Given the description of an element on the screen output the (x, y) to click on. 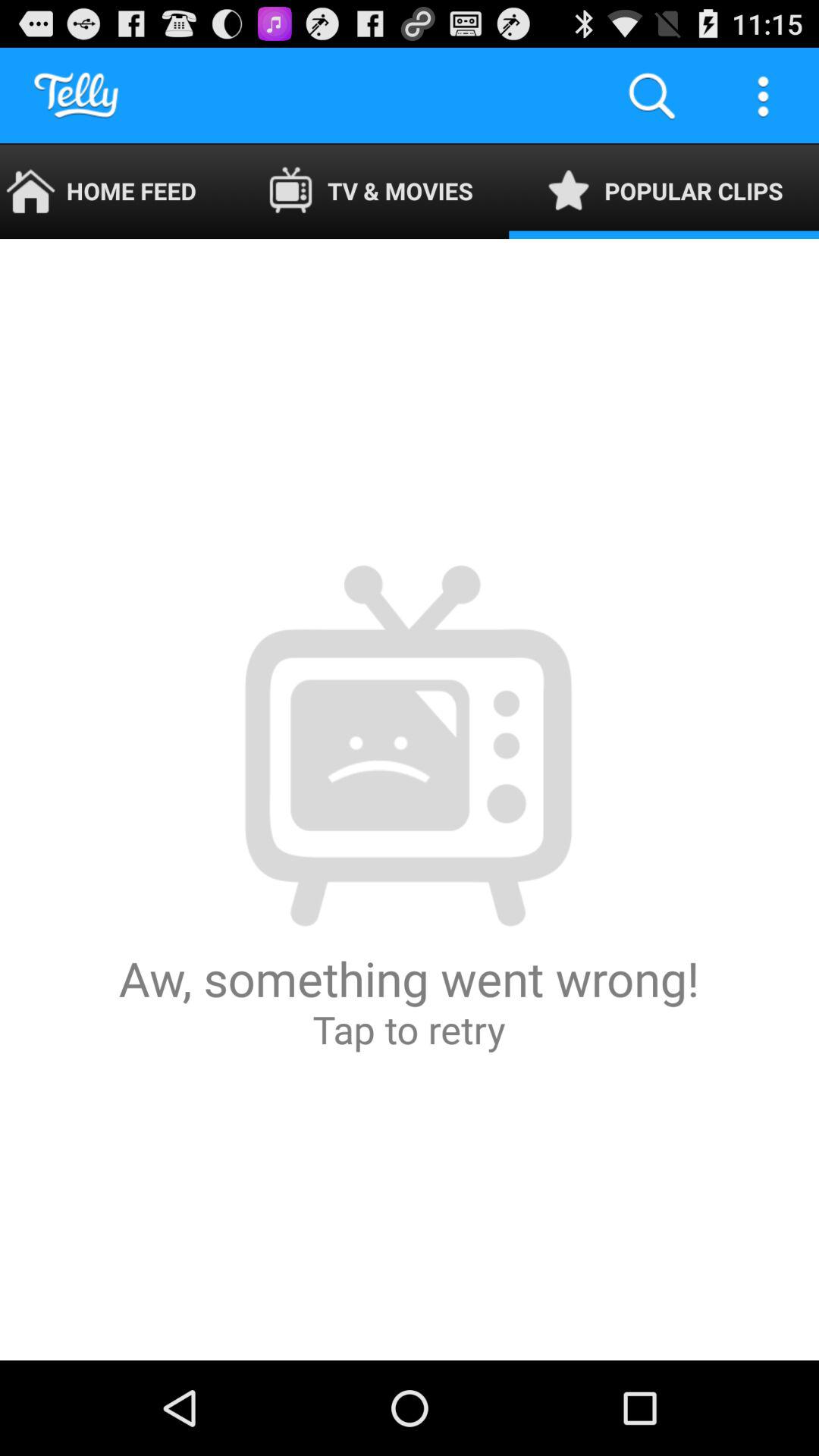
press the tv & movies (370, 190)
